Given the description of an element on the screen output the (x, y) to click on. 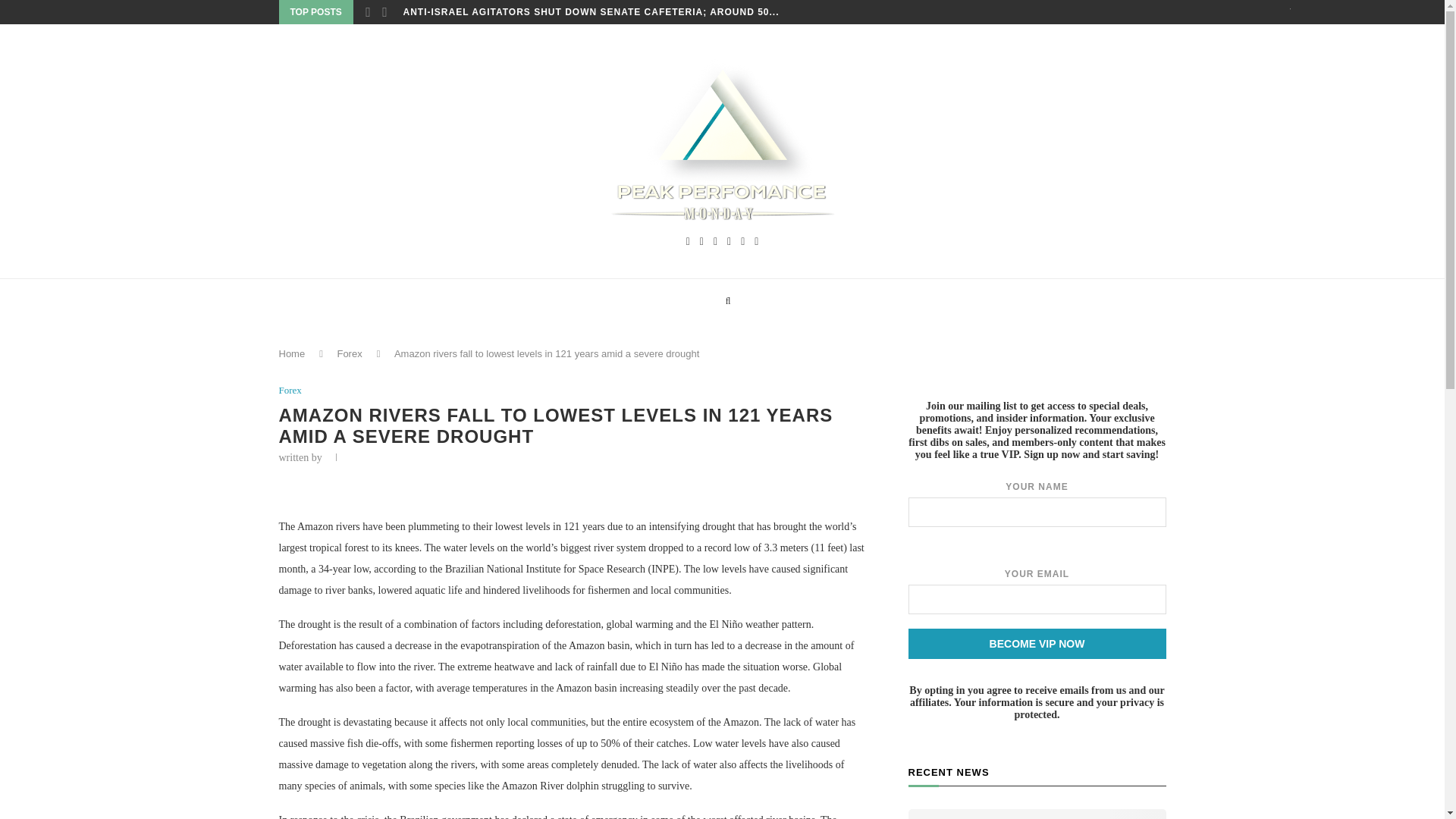
Forex (290, 390)
Home (292, 353)
Forex (348, 353)
Become VIP Now (1037, 643)
